Given the description of an element on the screen output the (x, y) to click on. 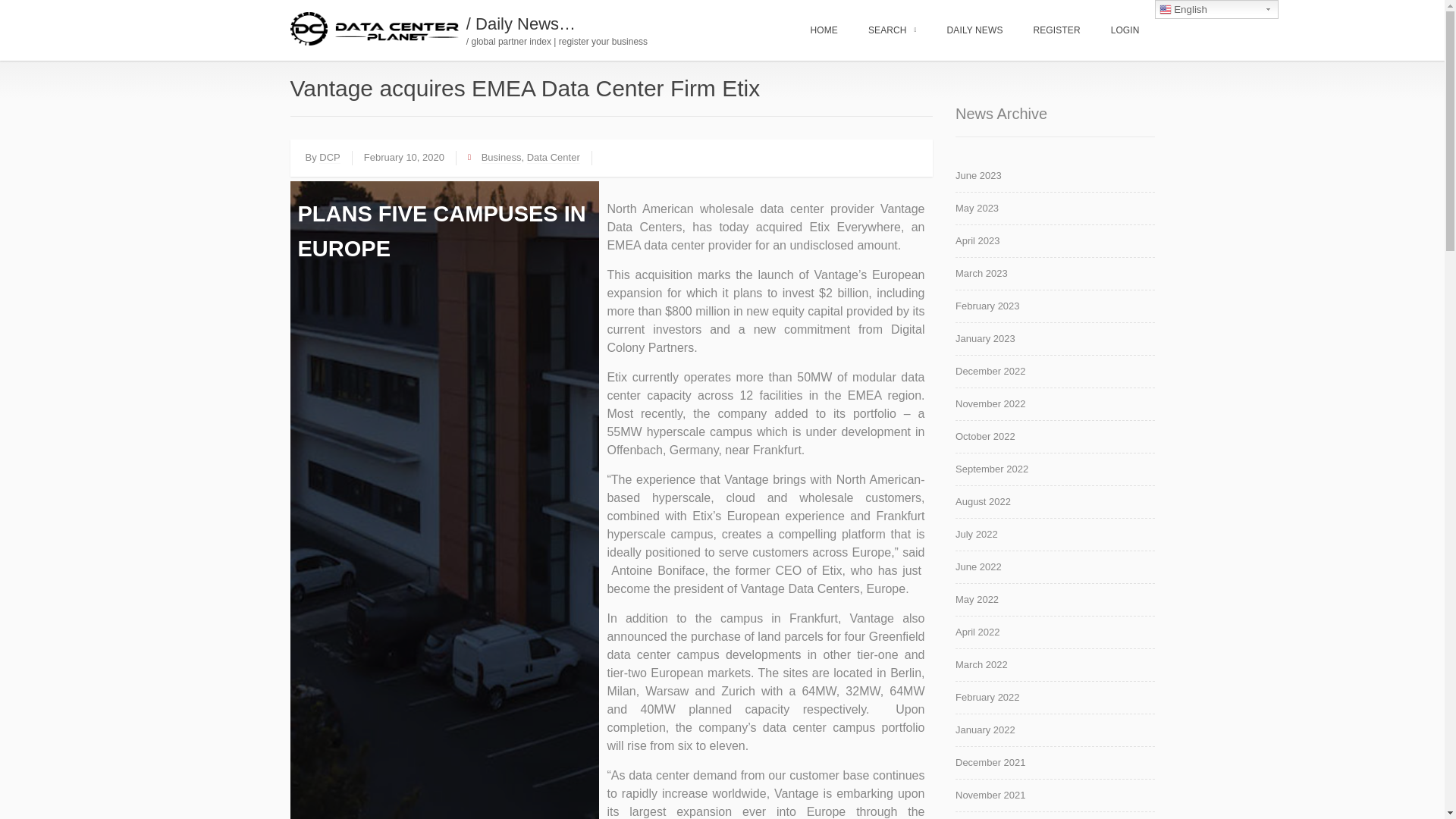
LOGIN (1125, 30)
May 2023 (1054, 212)
Data Center (553, 157)
June 2023 (1054, 179)
REGISTER (1055, 30)
HOME (823, 30)
Posts by DCP (328, 157)
March 2023 (1054, 276)
DAILY NEWS (974, 30)
English (1216, 9)
SEARCH (892, 30)
April 2023 (1054, 243)
DCP (328, 157)
Business (501, 157)
